Given the description of an element on the screen output the (x, y) to click on. 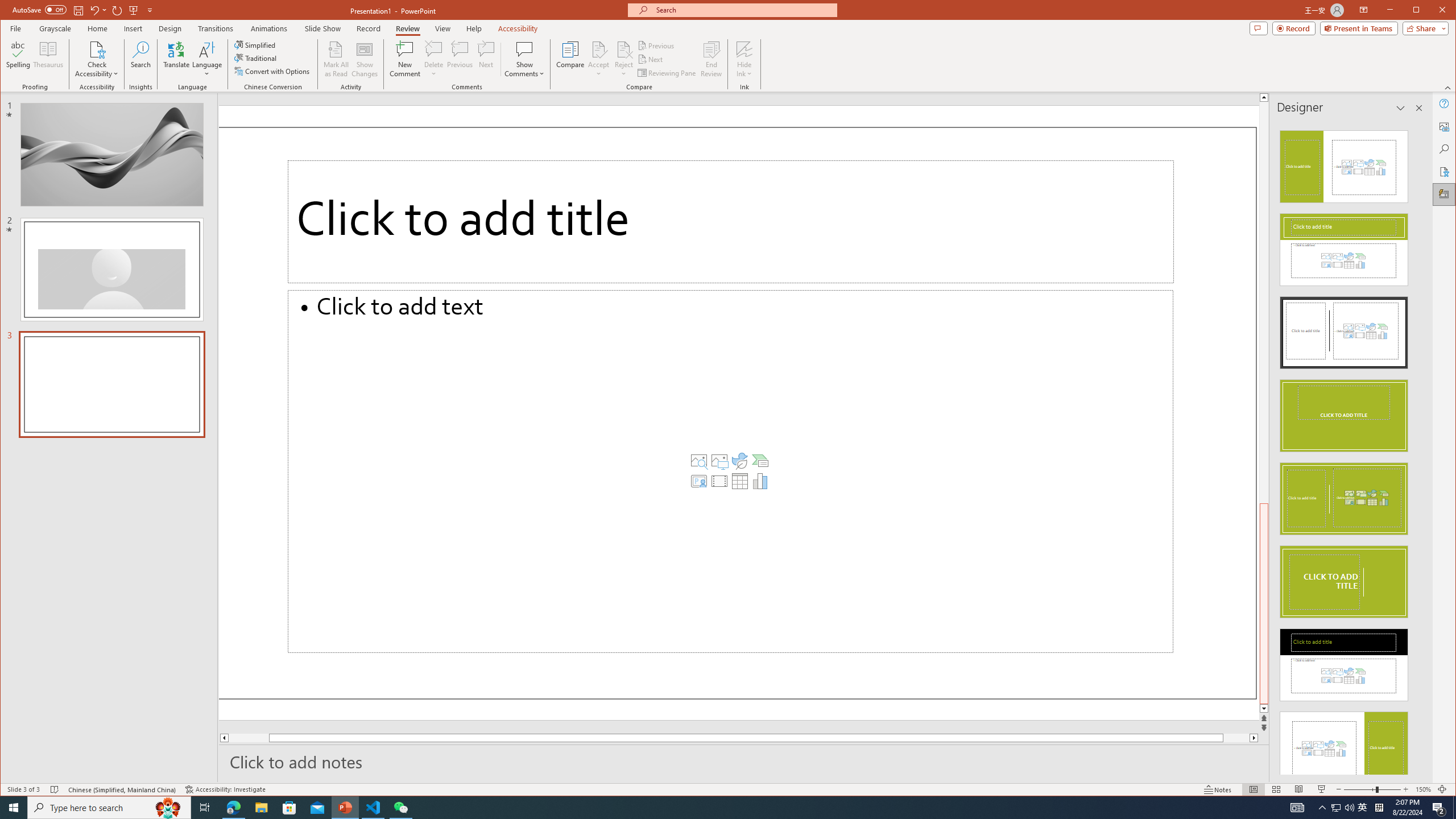
Compare (569, 59)
Insert Table (739, 480)
Insert Chart (760, 480)
Content Placeholder (730, 470)
Show Changes (365, 59)
Simplified (255, 44)
